Given the description of an element on the screen output the (x, y) to click on. 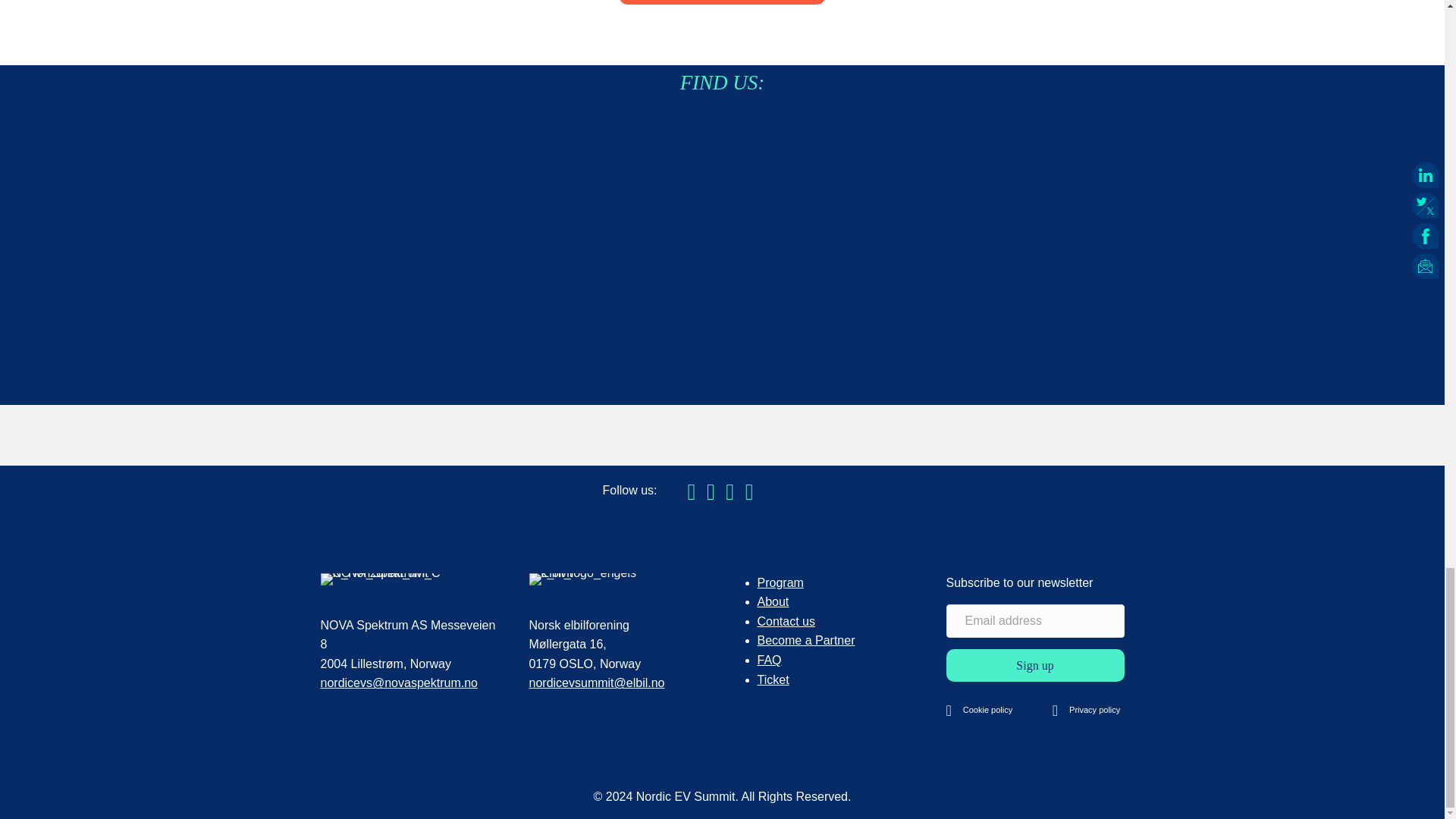
BUY YOUR TICKET NOW (722, 2)
